Given the description of an element on the screen output the (x, y) to click on. 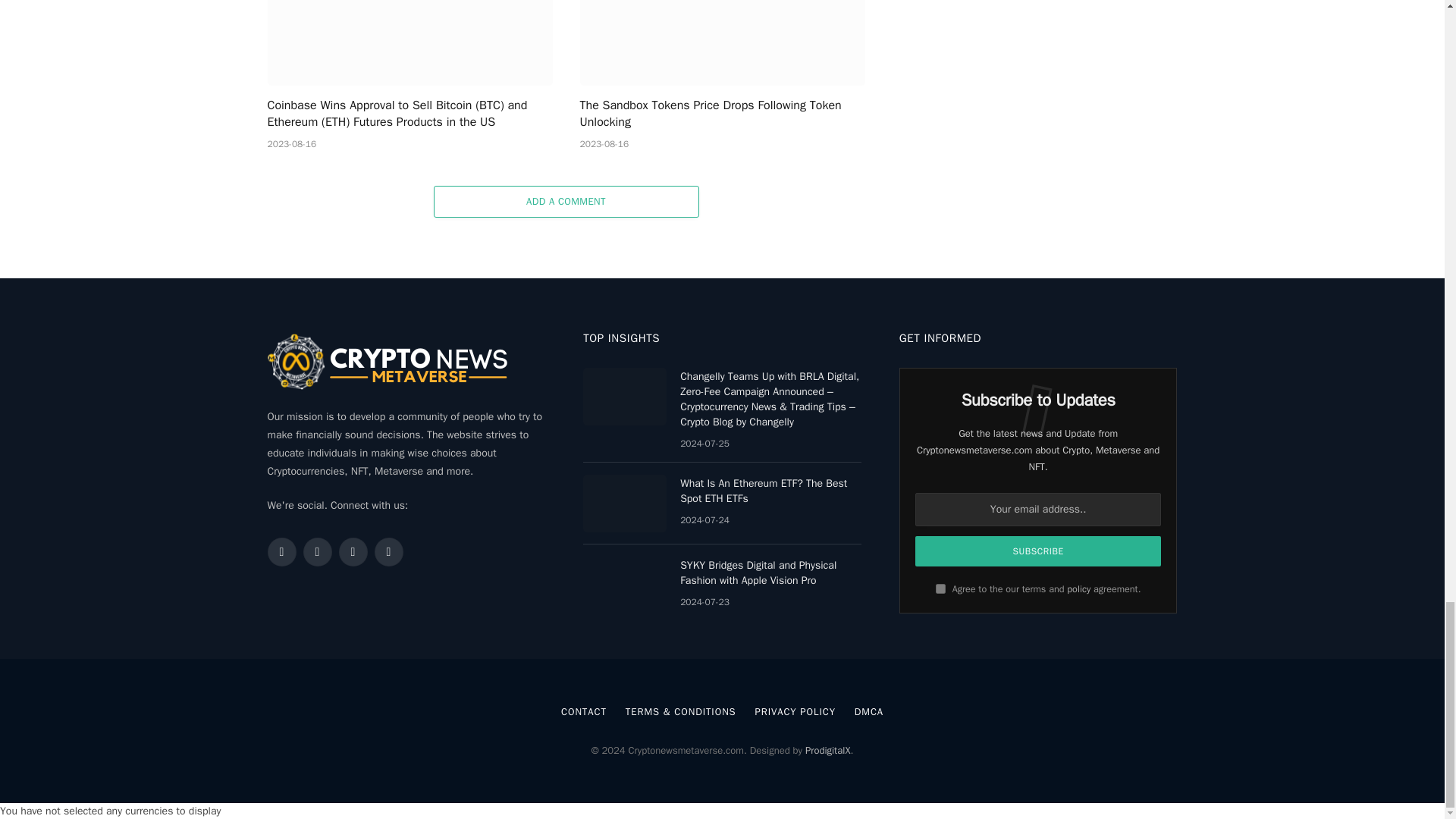
on (940, 588)
Subscribe (1038, 551)
